Given the description of an element on the screen output the (x, y) to click on. 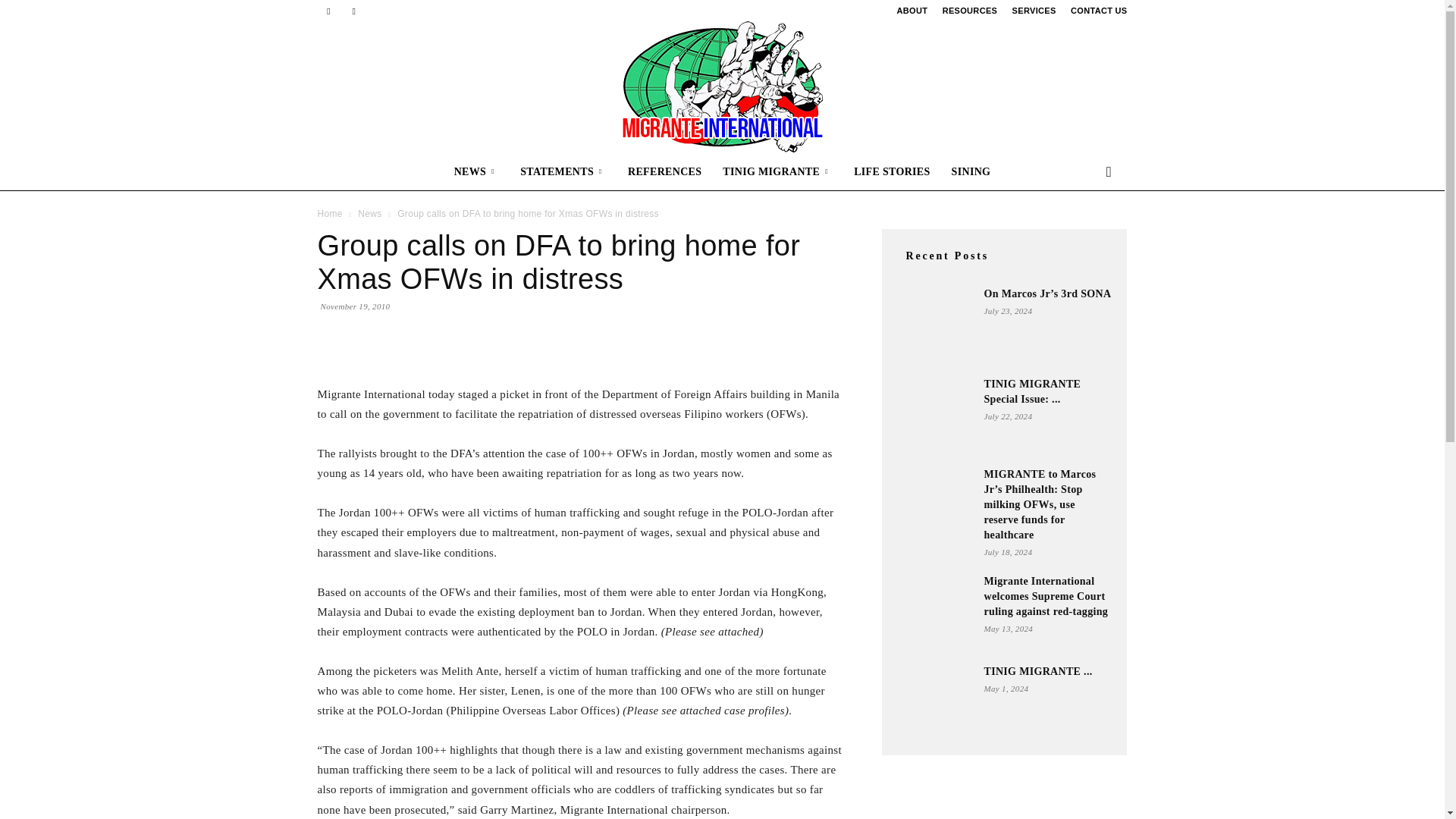
Twitter (353, 10)
SERVICES (1034, 10)
STATEMENTS (563, 171)
Facebook (328, 10)
RESOURCES (969, 10)
CONTACT US (1098, 10)
NEWS (477, 171)
ABOUT (912, 10)
